Given the description of an element on the screen output the (x, y) to click on. 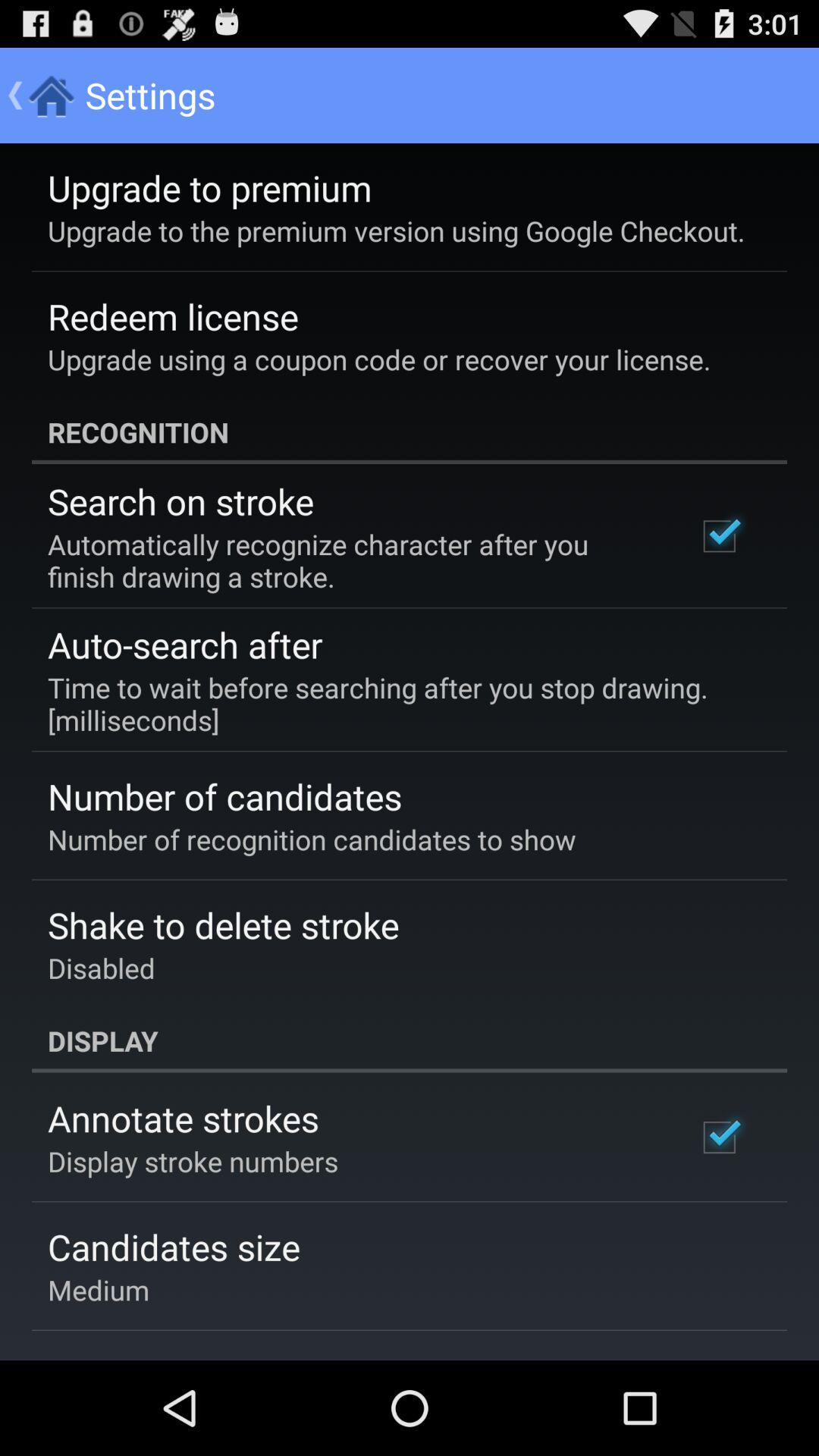
jump to annotate strokes app (183, 1118)
